Given the description of an element on the screen output the (x, y) to click on. 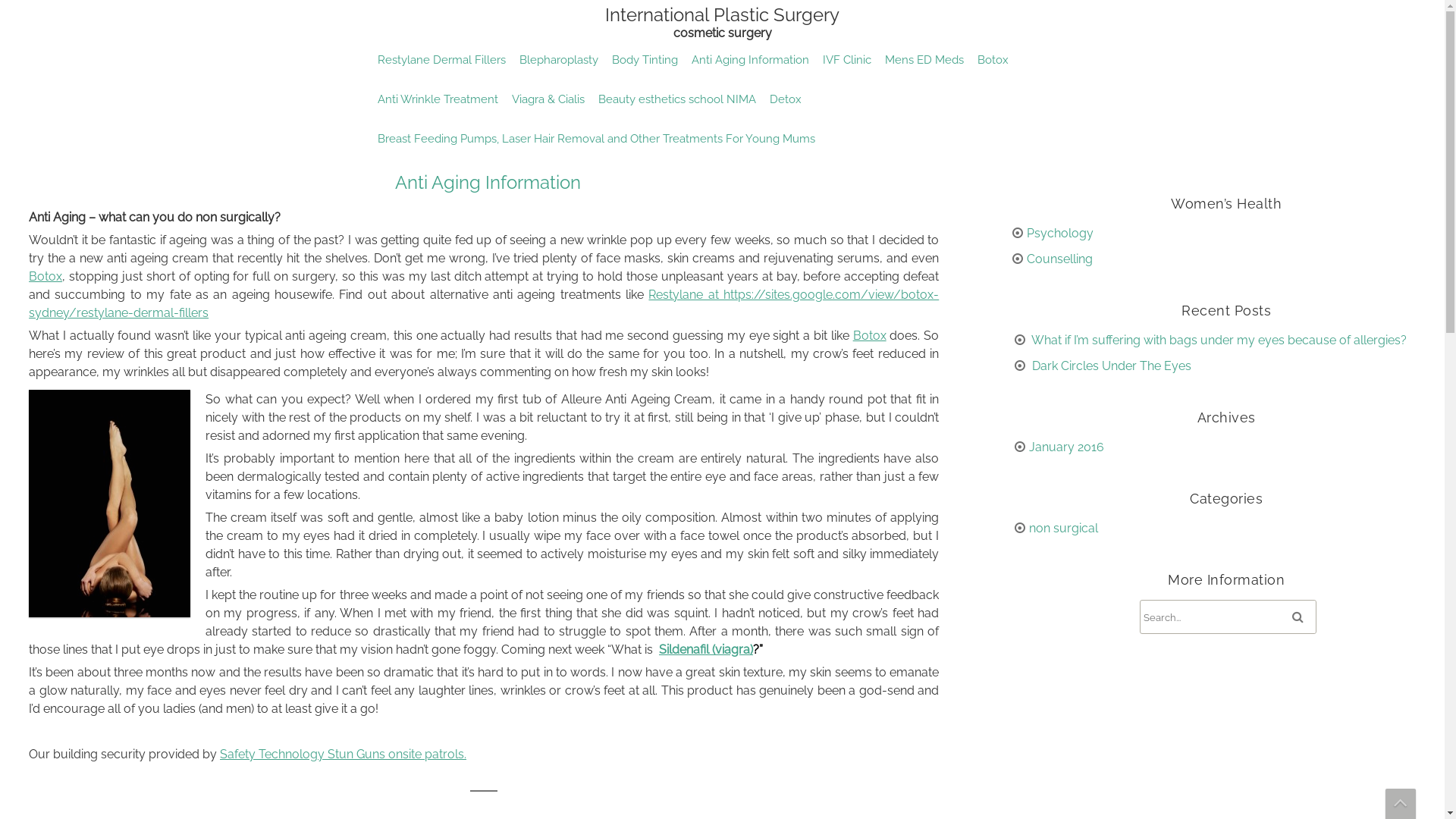
Anti Wrinkle Treatment Element type: text (437, 99)
IVF Clinic Element type: text (847, 59)
Beauty esthetics school NIMA Element type: text (676, 99)
Anti Aging Information Element type: text (749, 59)
Mens ED Meds Element type: text (924, 59)
Psychology Element type: text (1059, 232)
Counselling Element type: text (1059, 258)
Botox Element type: text (869, 335)
Restylane Dermal Fillers Element type: text (440, 59)
Detox Element type: text (785, 99)
non surgical Element type: text (1062, 527)
January 2016 Element type: text (1065, 446)
Anti Aging Information Element type: text (487, 182)
Safety Technology Stun Guns onsite patrols. Element type: text (342, 753)
Dark Circles Under The Eyes Element type: text (1110, 365)
Viagra & Cialis Element type: text (548, 99)
International Plastic Surgery Element type: text (722, 21)
Sildenafil (viagra) Element type: text (705, 649)
Body Tinting Element type: text (644, 59)
Botox Element type: text (992, 59)
Blepharoplasty Element type: text (558, 59)
Botox Element type: text (45, 276)
